Given the description of an element on the screen output the (x, y) to click on. 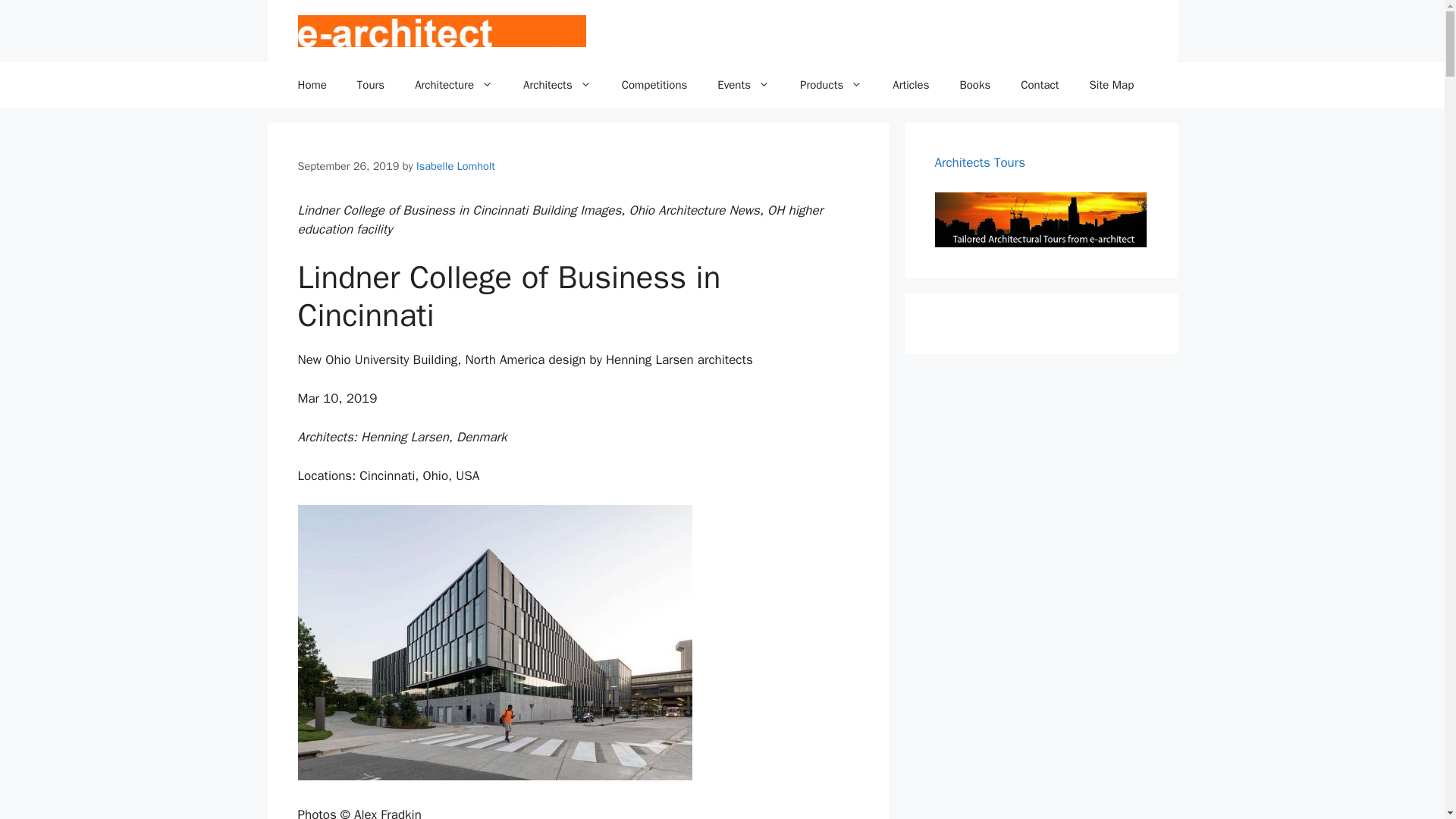
Articles (910, 84)
View all posts by Isabelle Lomholt (455, 165)
Architects (557, 84)
Tours (370, 84)
Competitions (655, 84)
Home (311, 84)
Architecture (453, 84)
Products (830, 84)
Home (311, 84)
Isabelle Lomholt (455, 165)
Contact (1040, 84)
Books (974, 84)
Site Map (1112, 84)
Events (742, 84)
